Given the description of an element on the screen output the (x, y) to click on. 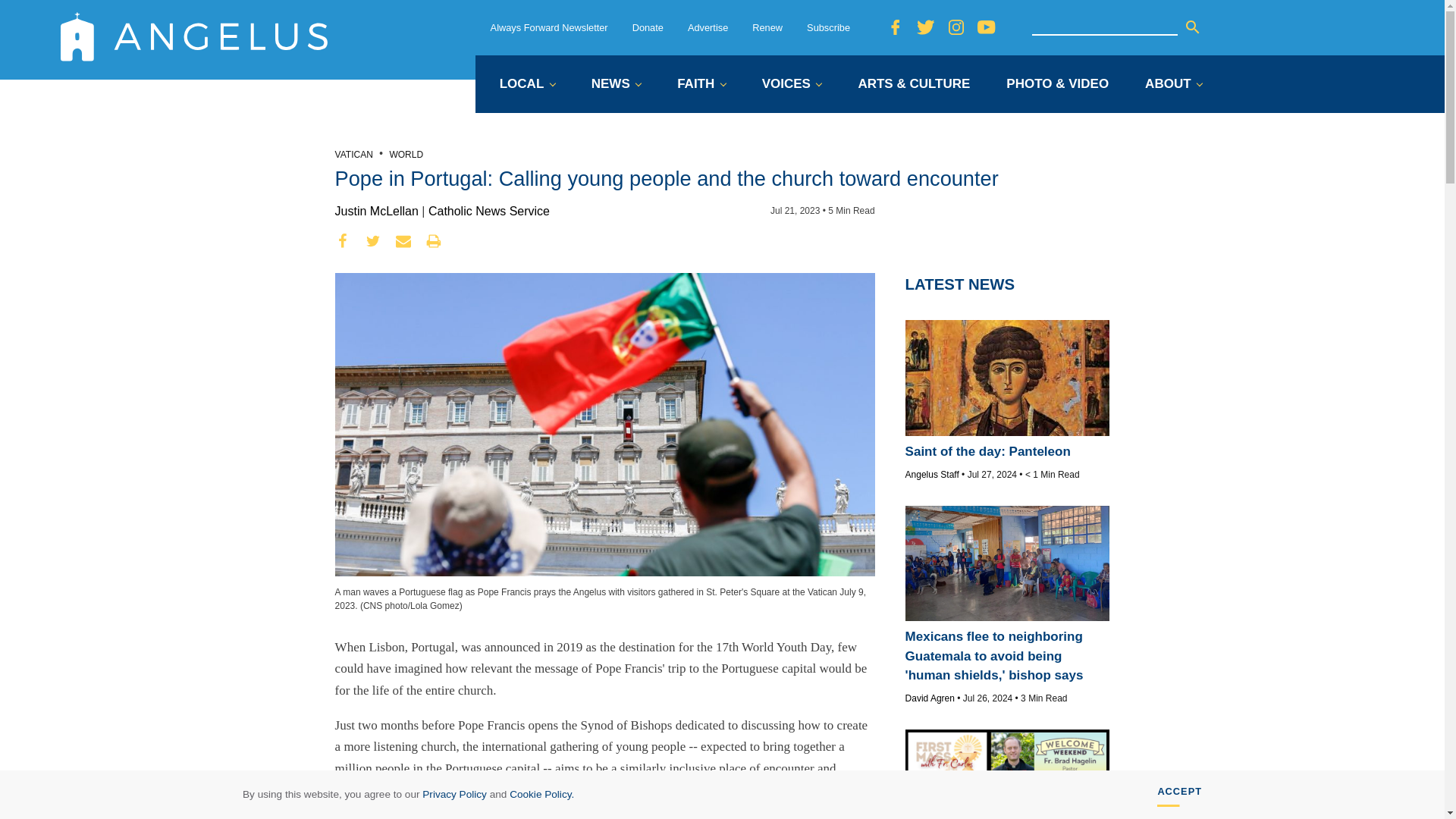
Posts by Angelus Staff (932, 474)
Advertise (707, 27)
Privacy Policy (454, 794)
print (433, 240)
Posts by Justin McLellan (376, 210)
LOCAL (526, 84)
facebook (342, 240)
Always Forward Newsletter (549, 27)
NEWS (615, 84)
Renew (767, 27)
Cookie Policy. (541, 794)
envelope (403, 240)
Subscribe (828, 27)
ACCEPT (1179, 794)
Donate (647, 27)
